Given the description of an element on the screen output the (x, y) to click on. 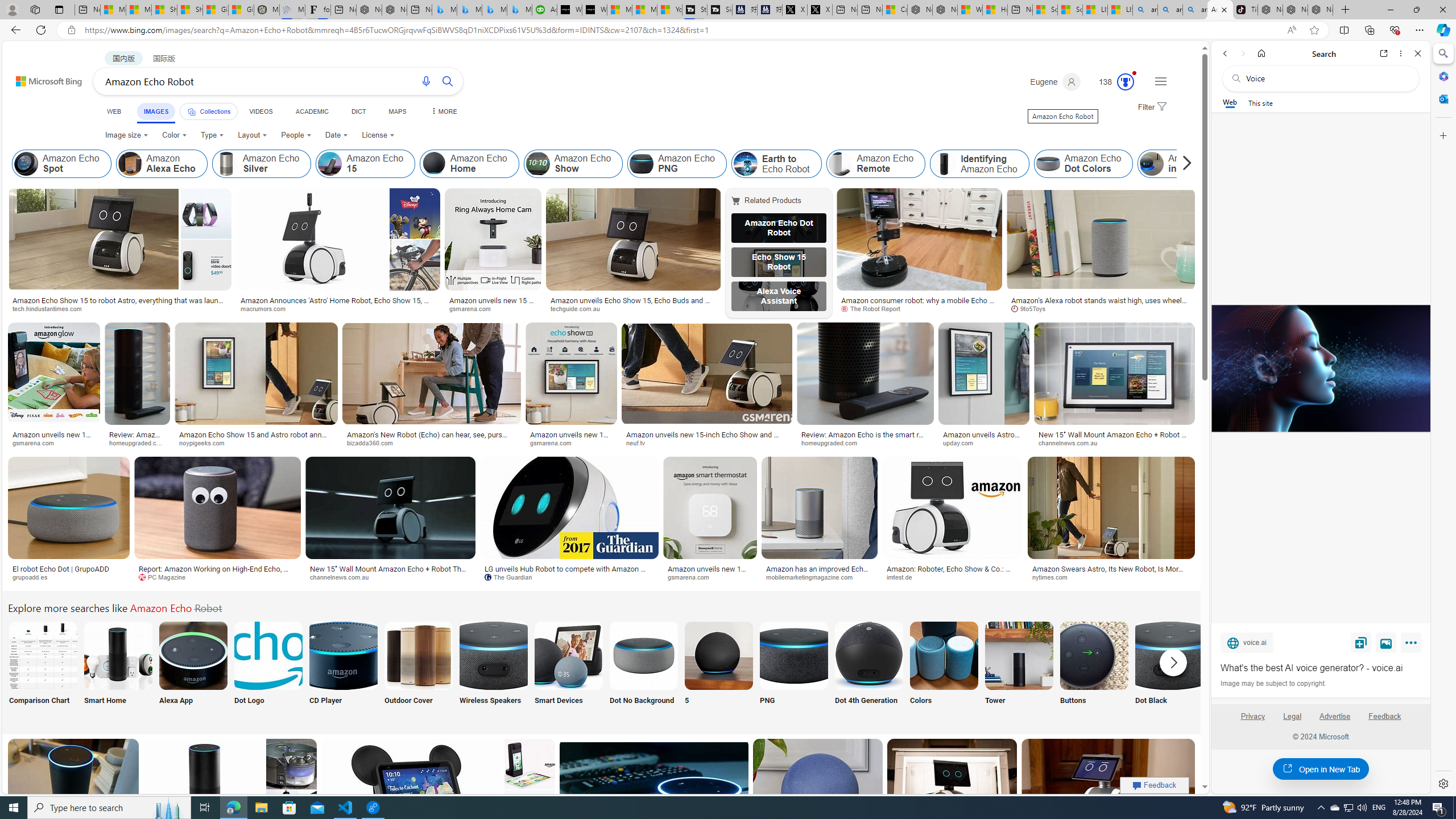
grupoadd.es (69, 576)
Amazon consumer robot: why a mobile Echo Show makes sense (919, 303)
Microsoft Bing Travel - Stays in Bangkok, Bangkok, Thailand (469, 9)
Advertise (1335, 715)
Microsoft Bing Travel - Shangri-La Hotel Bangkok (519, 9)
Save (1361, 642)
